Given the description of an element on the screen output the (x, y) to click on. 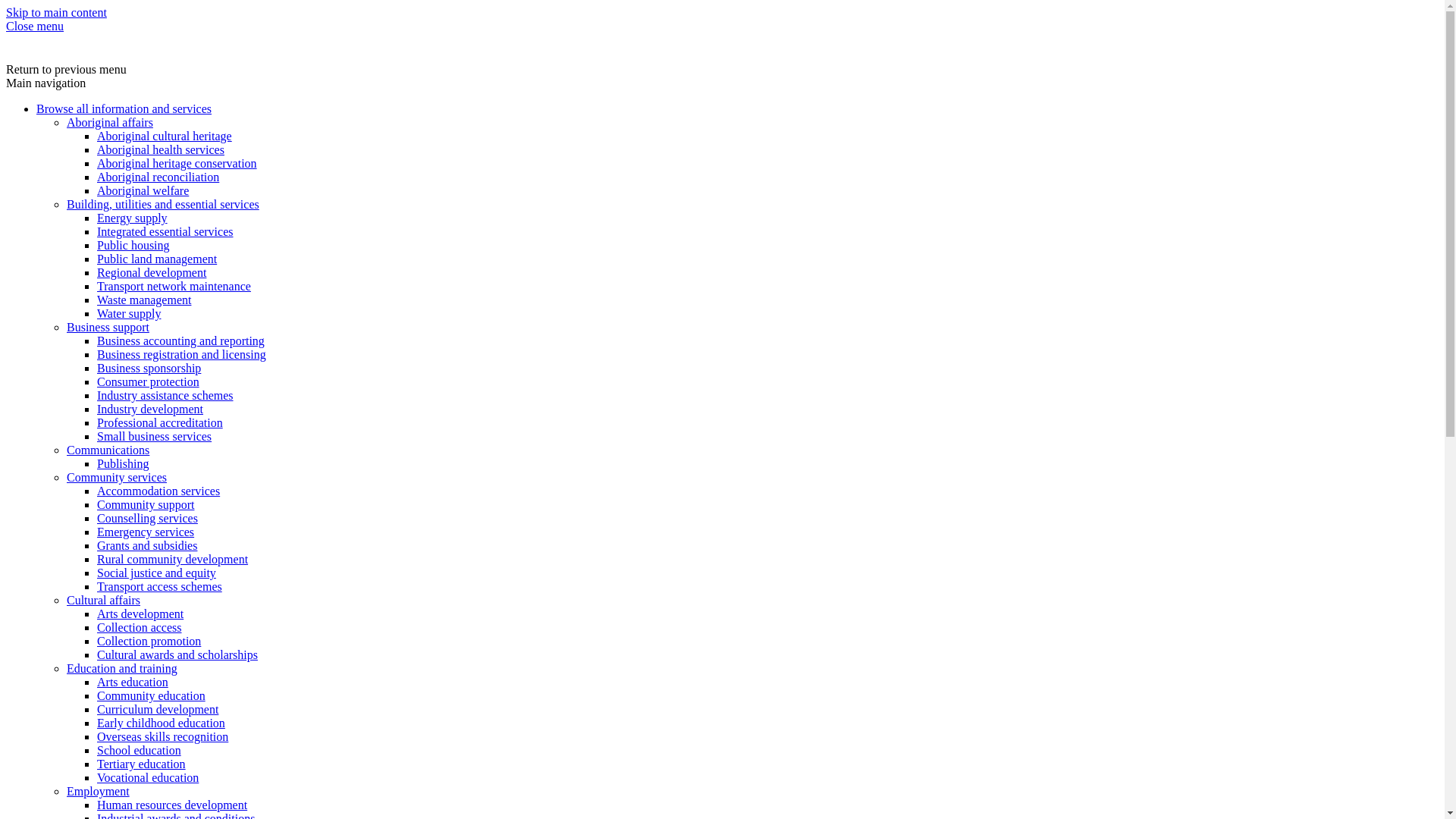
Human resources development Element type: text (172, 804)
Publishing Element type: text (122, 463)
Return to previous menu Element type: text (66, 68)
Community education Element type: text (151, 695)
Arts development Element type: text (140, 613)
Building, utilities and essential services Element type: text (162, 203)
Arts education Element type: text (132, 681)
Rural community development Element type: text (172, 558)
Counselling services Element type: text (147, 517)
Employment Element type: text (97, 790)
Professional accreditation Element type: text (159, 422)
Integrated essential services Element type: text (164, 231)
Cultural awards and scholarships Element type: text (177, 654)
Close menu Element type: text (34, 25)
Energy supply Element type: text (132, 217)
Public housing Element type: text (133, 244)
Community services Element type: text (116, 476)
Industry assistance schemes Element type: text (165, 395)
Vocational education Element type: text (147, 777)
Collection promotion Element type: text (148, 640)
Early childhood education Element type: text (161, 722)
Curriculum development Element type: text (157, 708)
Aboriginal welfare Element type: text (142, 190)
Small business services Element type: text (154, 435)
Accommodation services Element type: text (158, 490)
Transport access schemes Element type: text (159, 586)
Communications Element type: text (107, 449)
Industry development Element type: text (150, 408)
Emergency services Element type: text (145, 531)
Transport network maintenance Element type: text (174, 285)
Aboriginal heritage conservation Element type: text (177, 162)
Collection access Element type: text (139, 627)
Cultural affairs Element type: text (103, 599)
Regional development Element type: text (151, 272)
Aboriginal reconciliation Element type: text (158, 176)
Business support Element type: text (107, 326)
Consumer protection Element type: text (148, 381)
School education Element type: text (139, 749)
Skip to main content Element type: text (56, 12)
Aboriginal health services Element type: text (160, 149)
Community support Element type: text (145, 504)
Education and training Element type: text (121, 668)
Business sponsorship Element type: text (148, 367)
Tertiary education Element type: text (141, 763)
Business accounting and reporting Element type: text (180, 340)
Public land management Element type: text (156, 258)
Business registration and licensing Element type: text (181, 354)
Social justice and equity Element type: text (156, 572)
Water supply Element type: text (128, 313)
Grants and subsidies Element type: text (147, 545)
Overseas skills recognition Element type: text (162, 736)
Aboriginal cultural heritage Element type: text (164, 135)
Aboriginal affairs Element type: text (109, 122)
Browse all information and services Element type: text (123, 108)
Waste management Element type: text (144, 299)
